Given the description of an element on the screen output the (x, y) to click on. 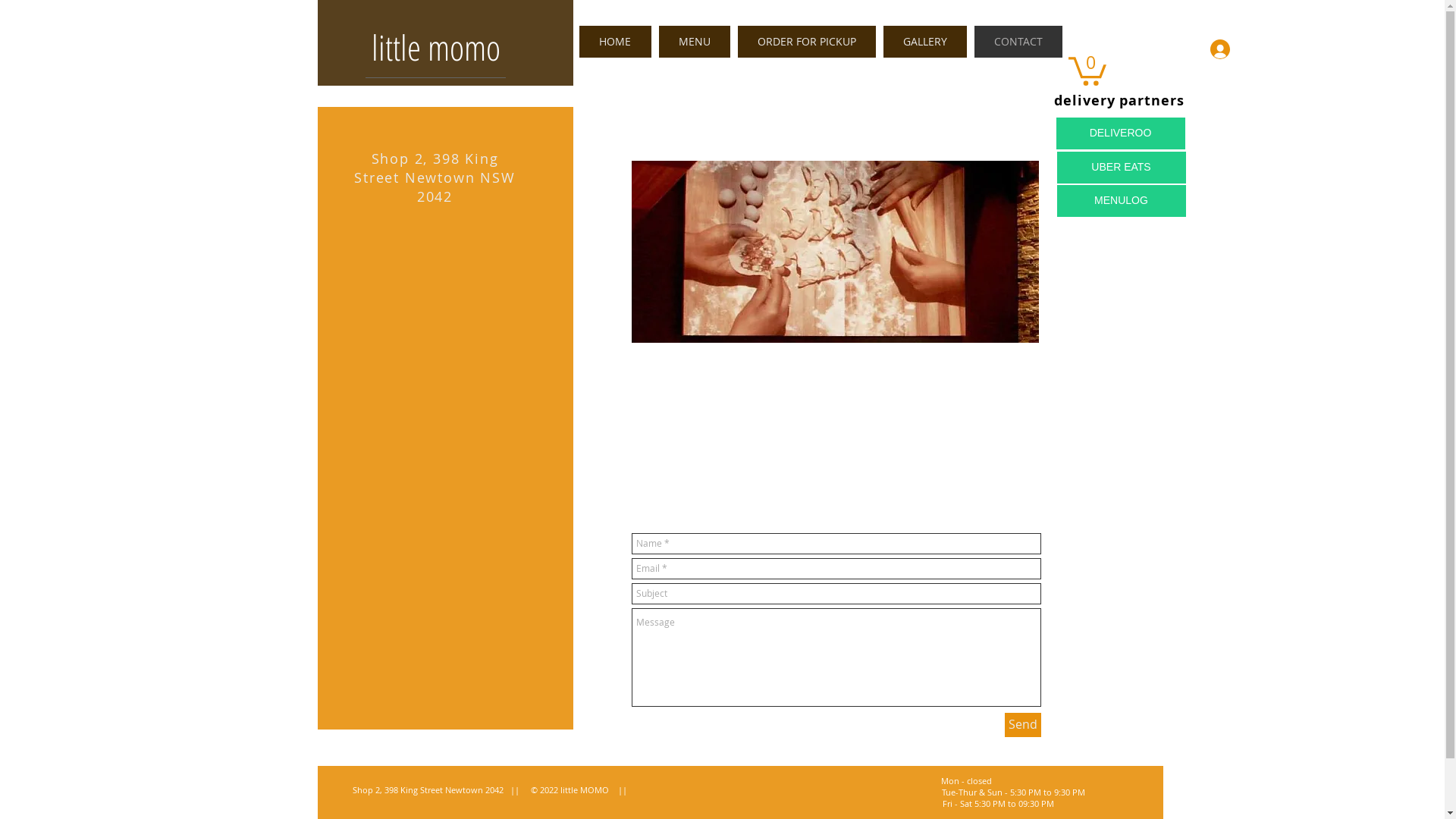
little momo Element type: text (435, 52)
CONTACT Element type: text (1017, 41)
HOME Element type: text (615, 41)
DELIVEROO Element type: text (1119, 133)
UBER EATS Element type: text (1121, 167)
MENU Element type: text (693, 41)
0 Element type: text (1086, 69)
MENULOG Element type: text (1121, 200)
GALLERY Element type: text (924, 41)
ORDER FOR PICKUP Element type: text (806, 41)
Send Element type: text (1022, 724)
Log In Element type: text (1237, 48)
